Given the description of an element on the screen output the (x, y) to click on. 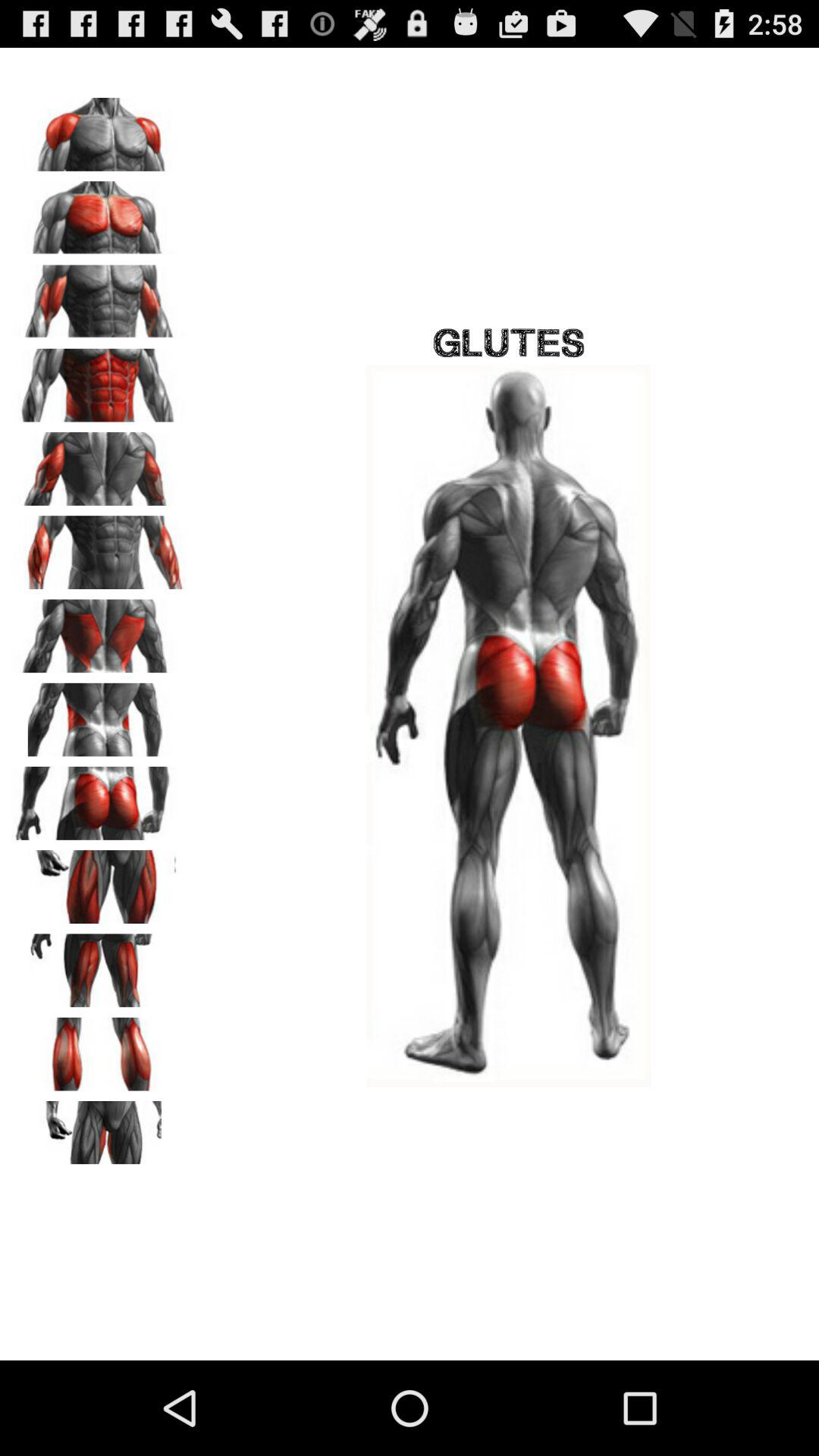
open the second image (99, 212)
